Given the description of an element on the screen output the (x, y) to click on. 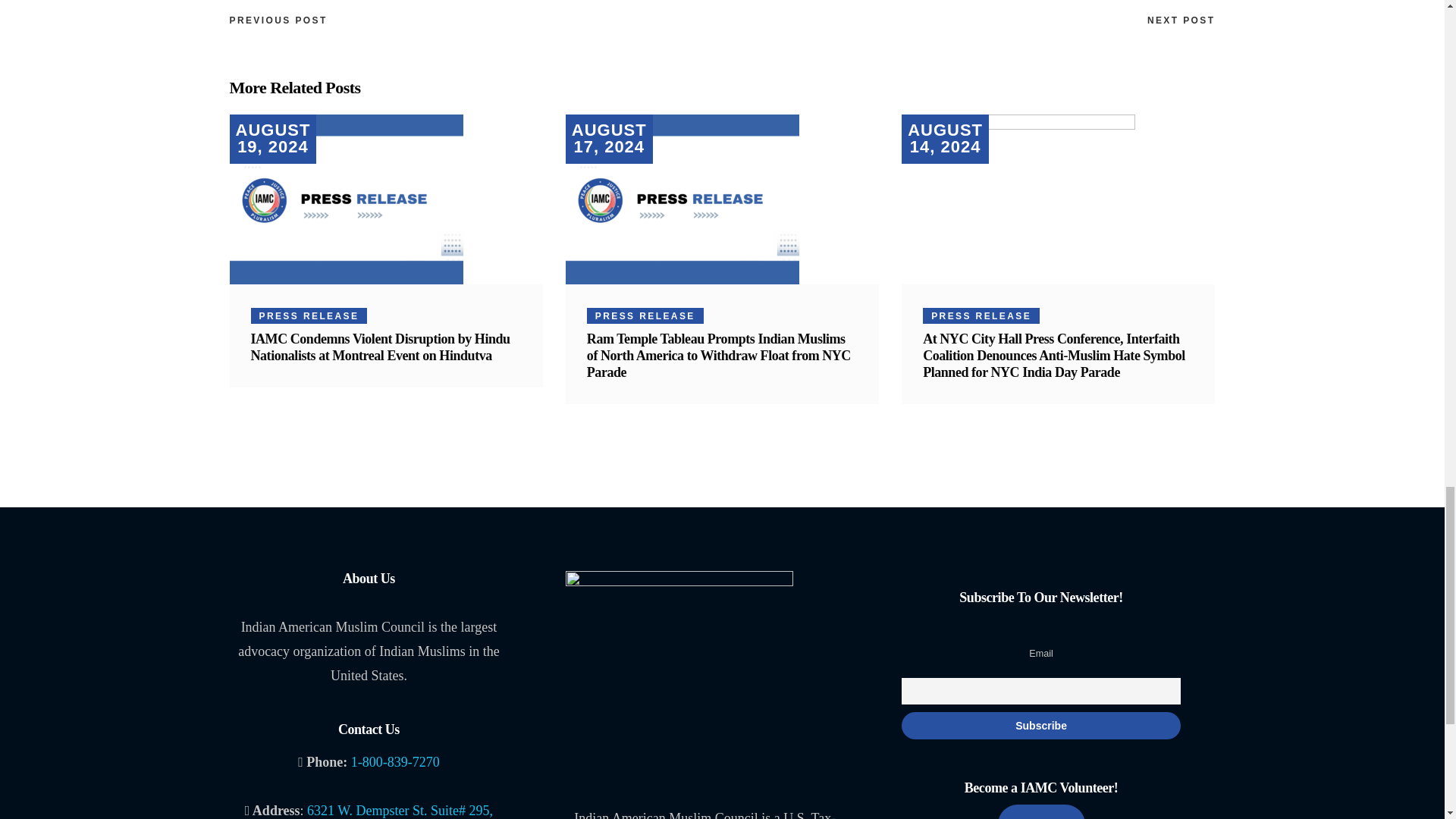
Subscribe (1040, 725)
